Given the description of an element on the screen output the (x, y) to click on. 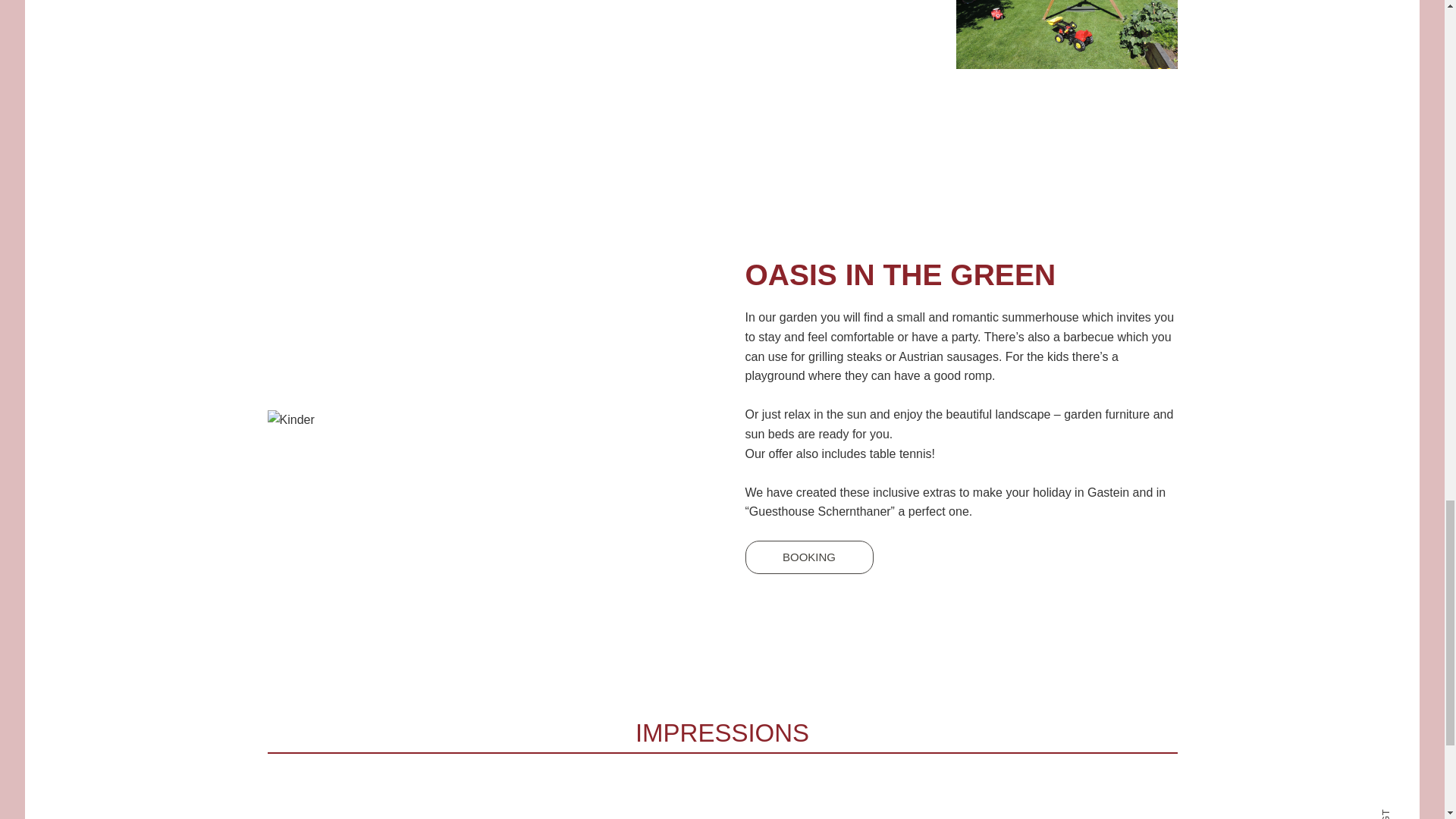
BOOKING (808, 557)
